Given the description of an element on the screen output the (x, y) to click on. 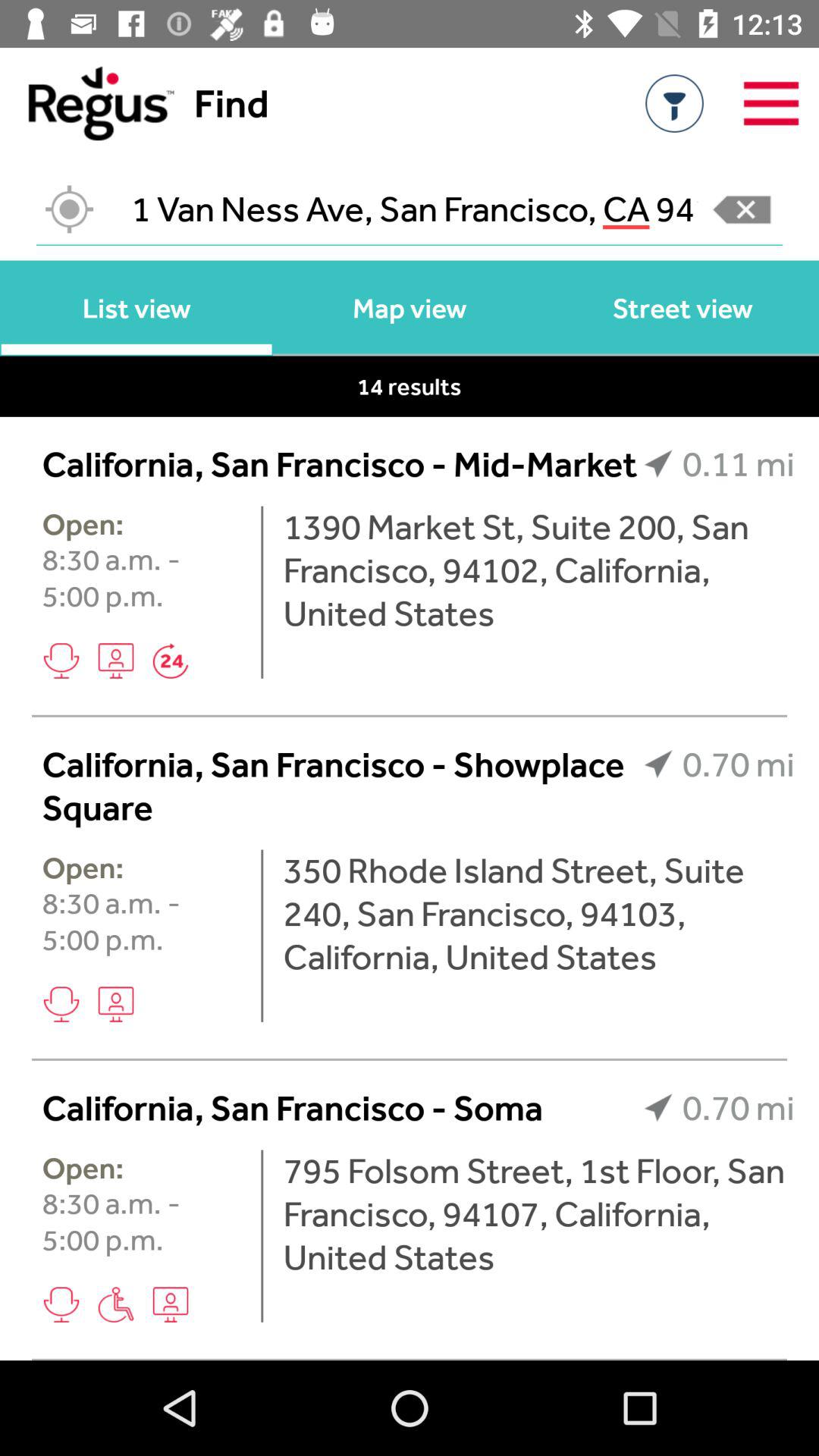
turn off 1 van ness (409, 209)
